Given the description of an element on the screen output the (x, y) to click on. 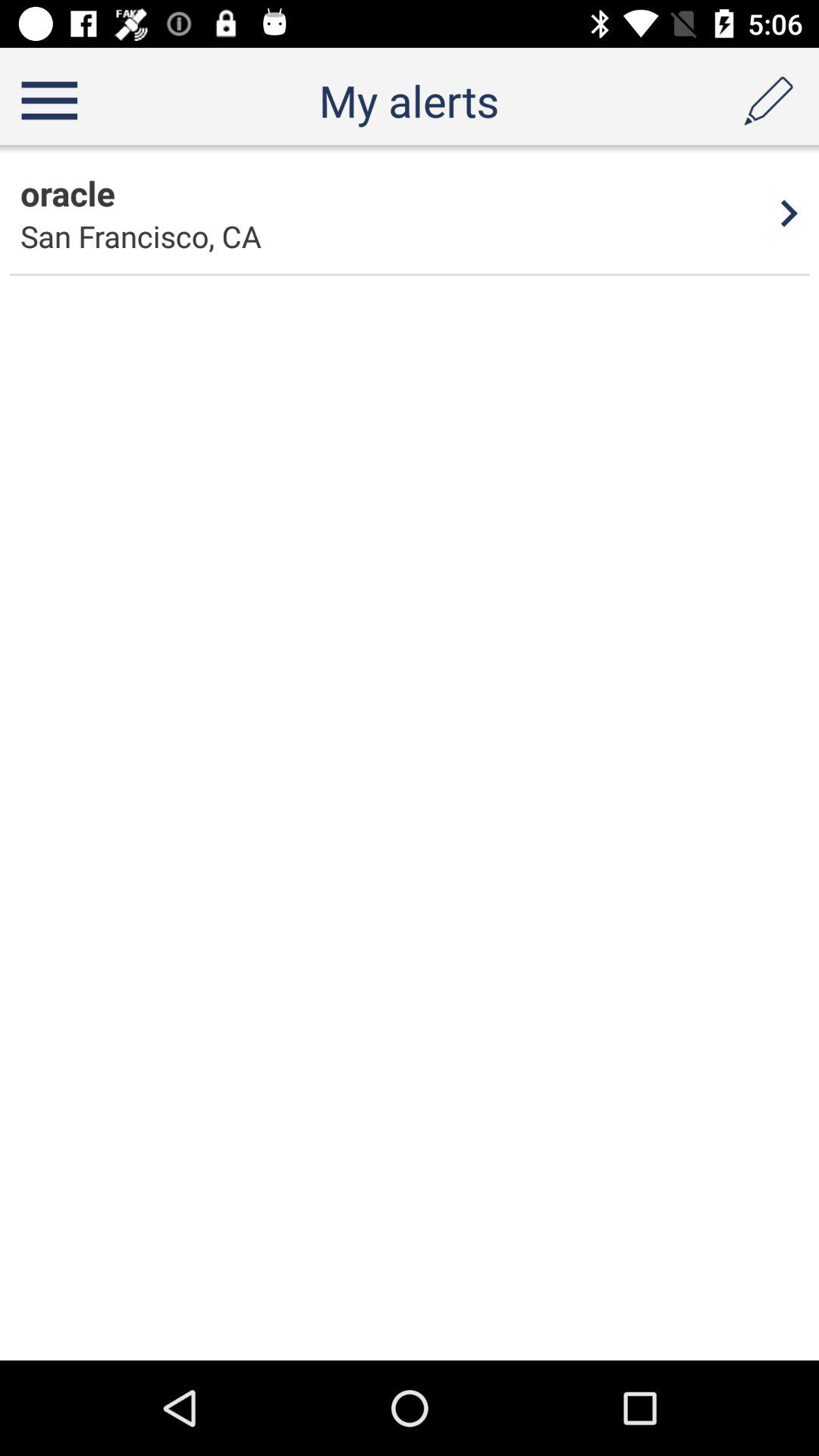
choose the item below the oracle icon (140, 236)
